Given the description of an element on the screen output the (x, y) to click on. 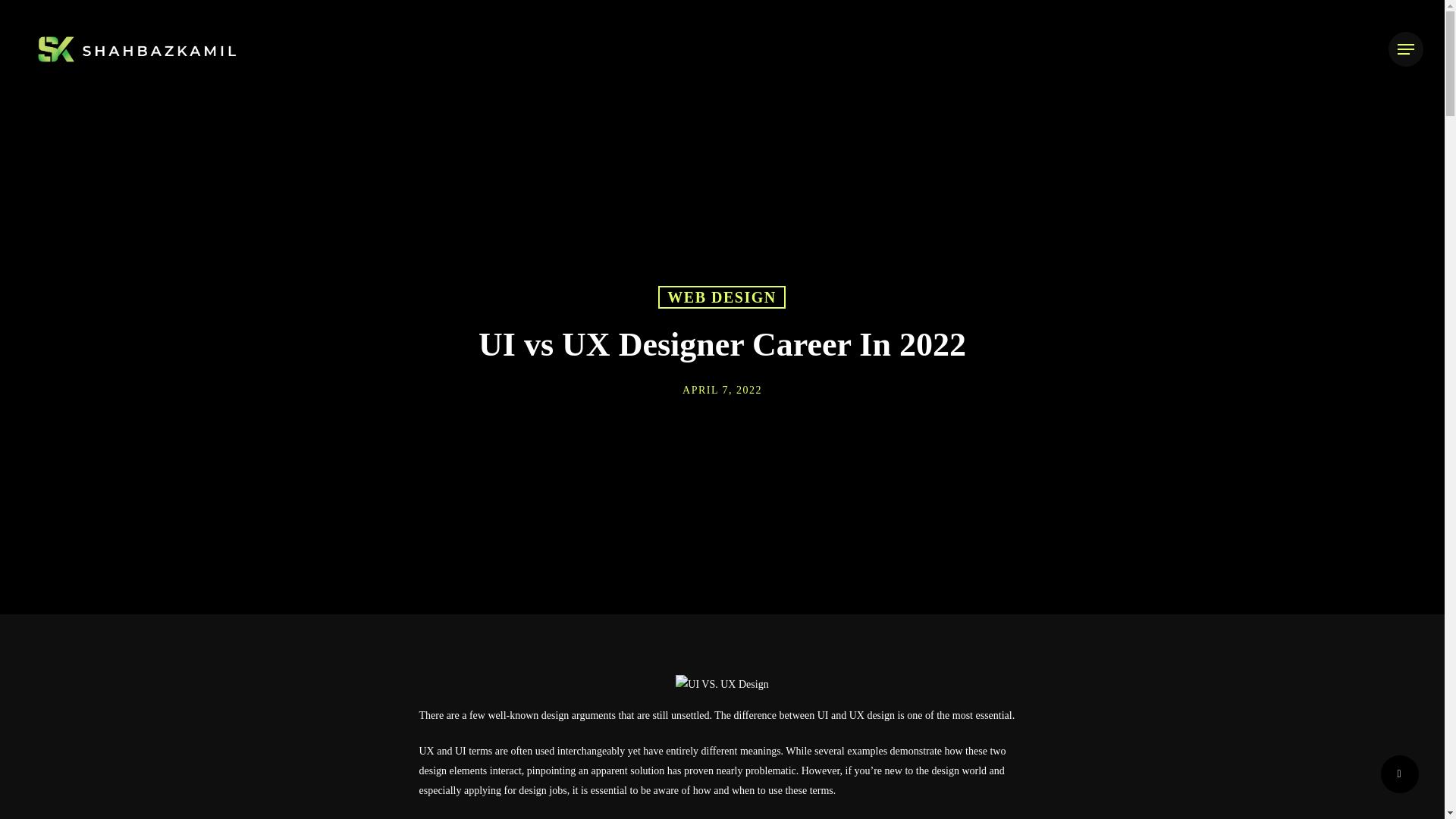
WEB DESIGN (721, 324)
Menu (1406, 48)
